Given the description of an element on the screen output the (x, y) to click on. 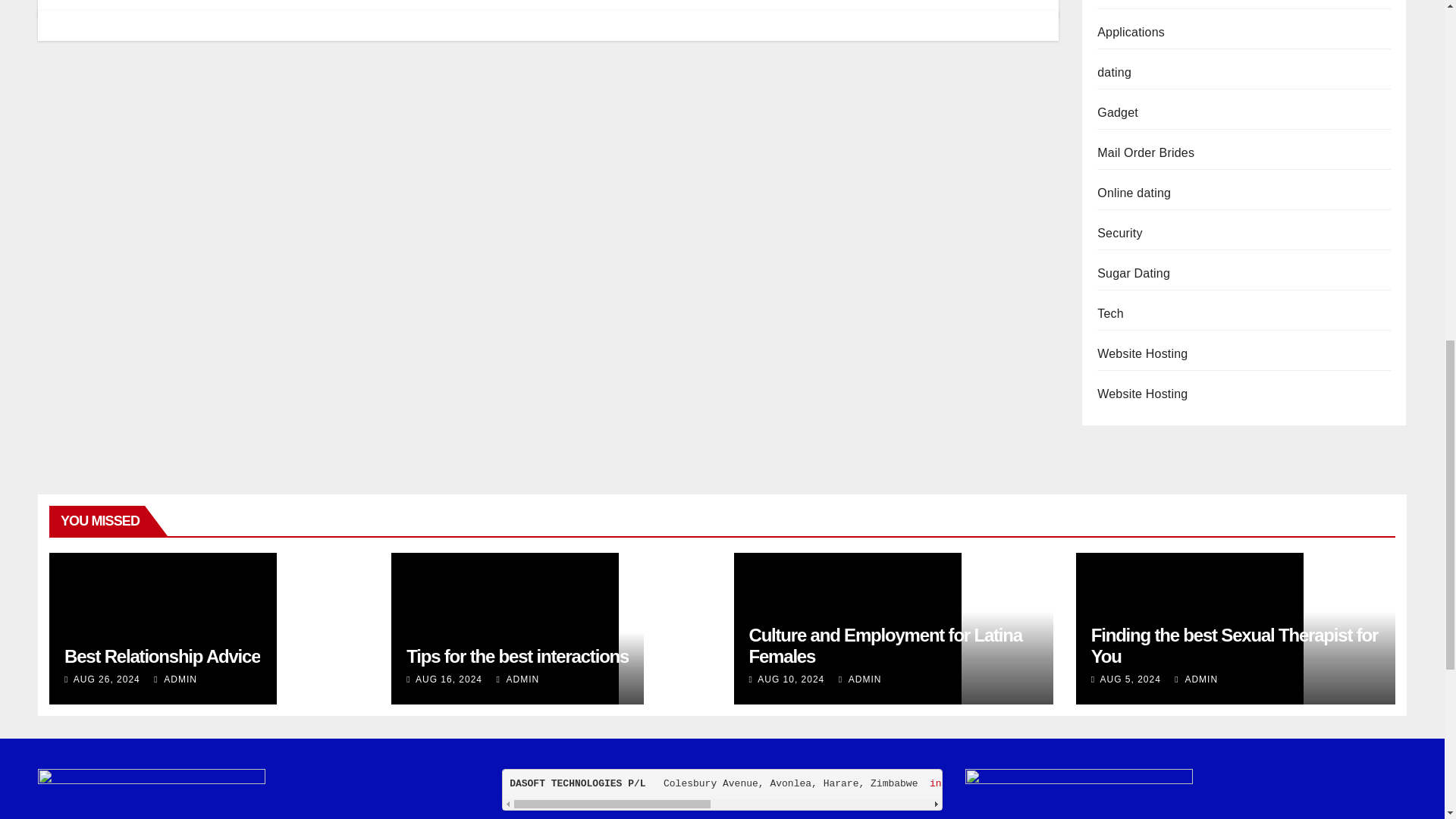
Permalink to: Best Relationship Advice (162, 656)
Permalink to: Finding the best Sexual Therapist for You (1233, 645)
Permalink to: Culture and Employment for Latina Females (885, 645)
dating (1114, 72)
Gadget (1117, 112)
Applications (1130, 31)
Security (1119, 232)
Online dating (1133, 192)
Permalink to: Tips for the best interactions (517, 656)
Mail Order Brides (1145, 152)
